Given the description of an element on the screen output the (x, y) to click on. 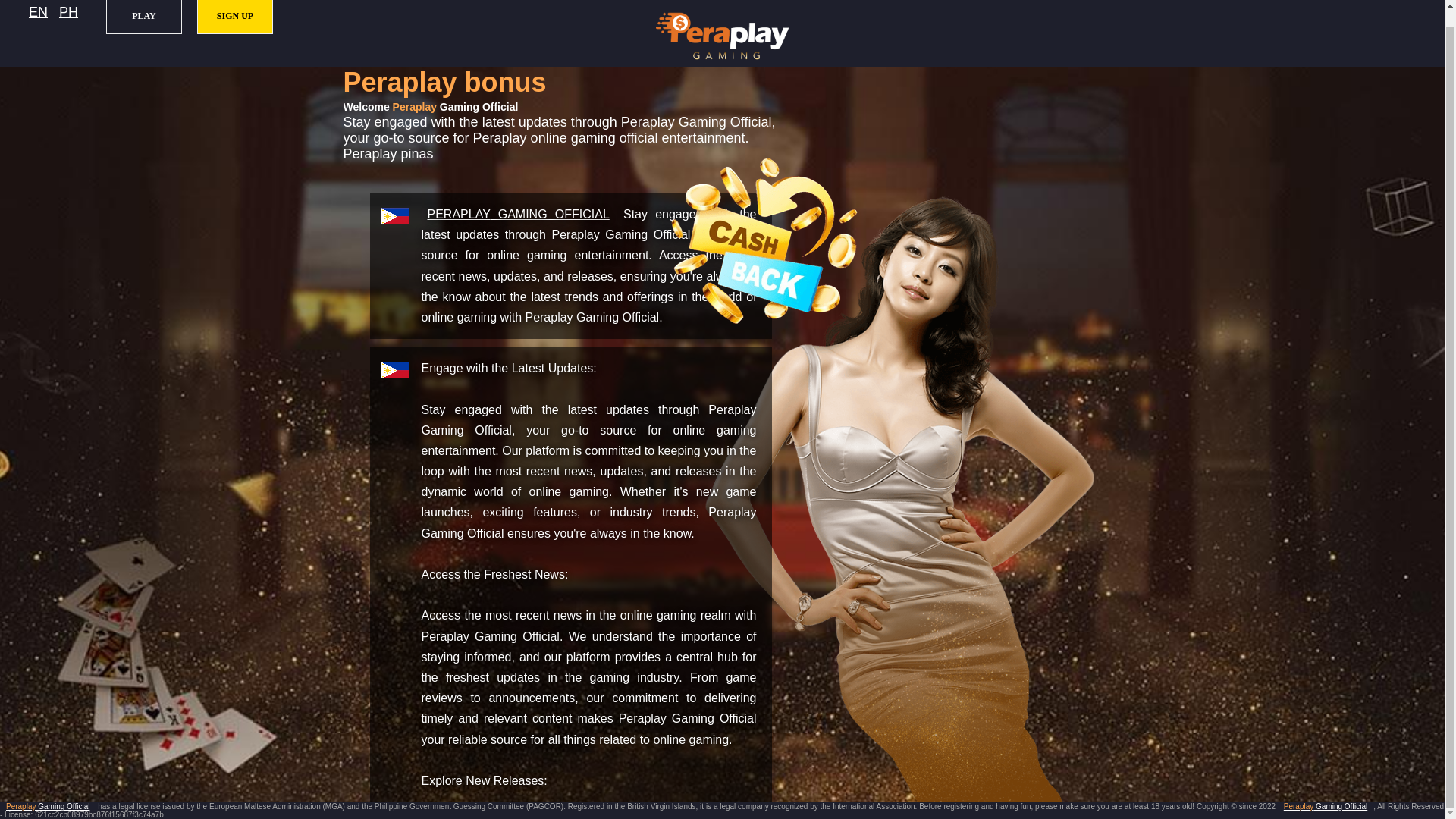
SIGN UP (234, 17)
EN (38, 12)
Peraplay Gaming Official Logo (721, 36)
Peraplay Gaming Official (46, 806)
PH (68, 12)
Peraplay Gaming Official (1325, 806)
Filipino (68, 12)
Peraplay Gaming Official (519, 214)
English (38, 12)
PERAPLAY GAMING OFFICIAL (519, 214)
PLAY (144, 17)
